Given the description of an element on the screen output the (x, y) to click on. 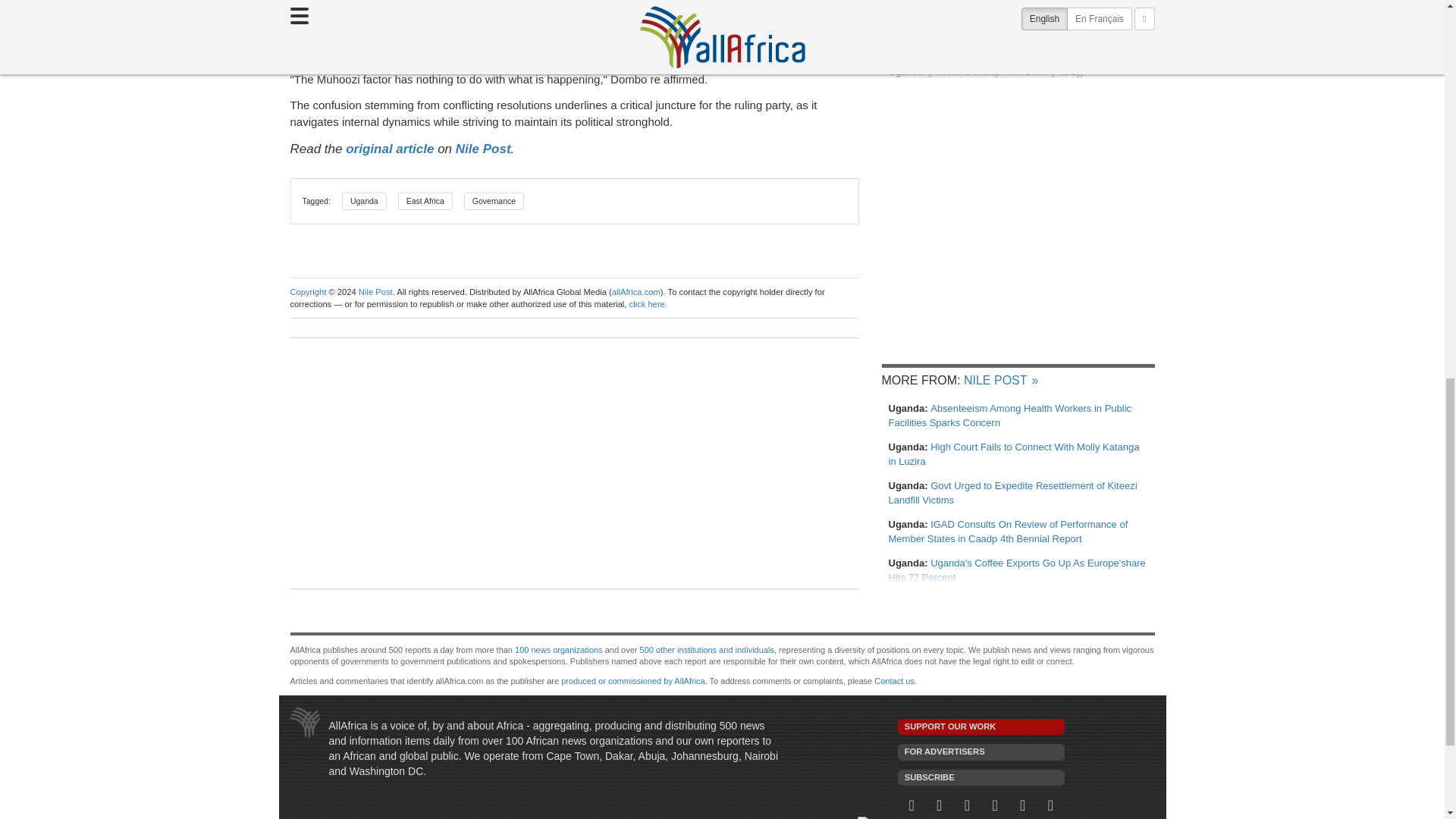
original article (389, 148)
East Africa (424, 200)
Uganda (364, 200)
click here. (647, 303)
allAfrica.com (636, 291)
Nile Post (483, 148)
Governance (494, 200)
Copyright (307, 291)
